Given the description of an element on the screen output the (x, y) to click on. 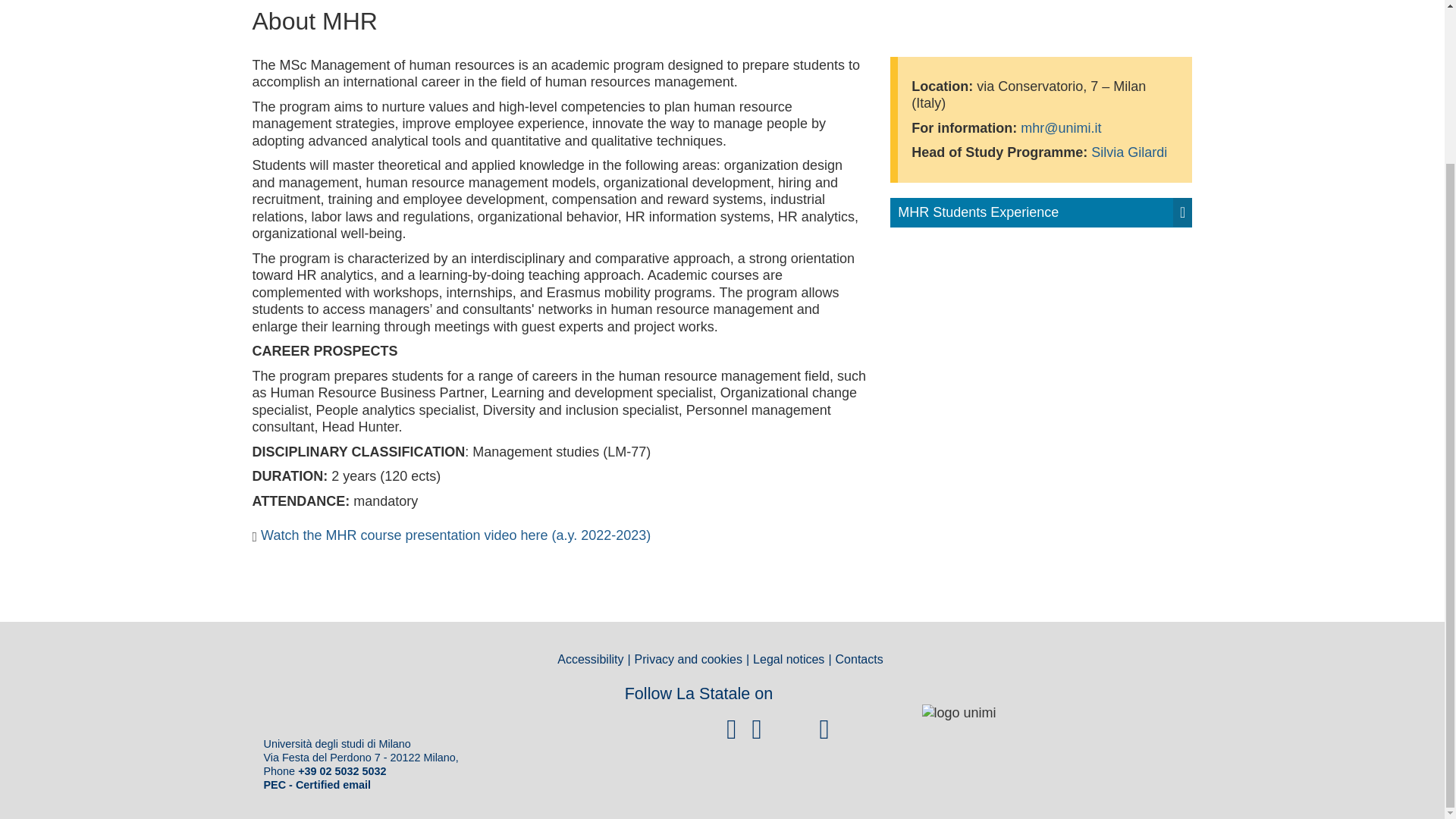
PortaleVideo (679, 729)
News (593, 729)
